Given the description of an element on the screen output the (x, y) to click on. 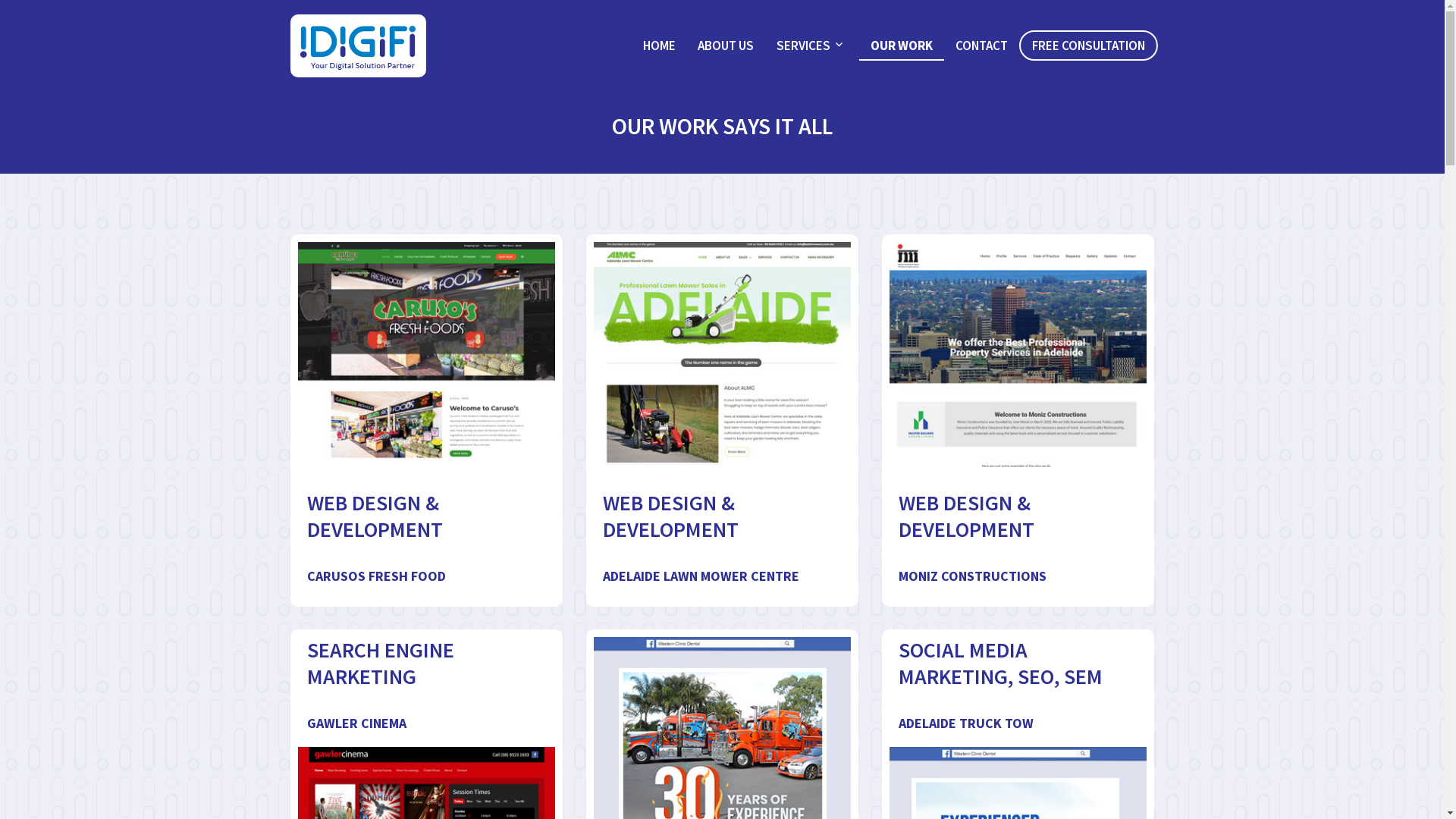
SERVICES Element type: text (812, 45)
MONIZ CONSTRUCTIONS Element type: text (971, 575)
CARUSOS FRESH FOOD Element type: text (375, 575)
FREE CONSULTATION Element type: text (1088, 45)
iDigifi Element type: text (331, 84)
ADELAIDE LAWN MOWER CENTRE Element type: text (700, 575)
GAWLER CINEMA Element type: text (355, 722)
HOME Element type: text (659, 45)
OUR WORK Element type: text (901, 45)
CONTACT Element type: text (981, 45)
ABOUT US Element type: text (725, 45)
ADELAIDE TRUCK TOW Element type: text (964, 722)
